Given the description of an element on the screen output the (x, y) to click on. 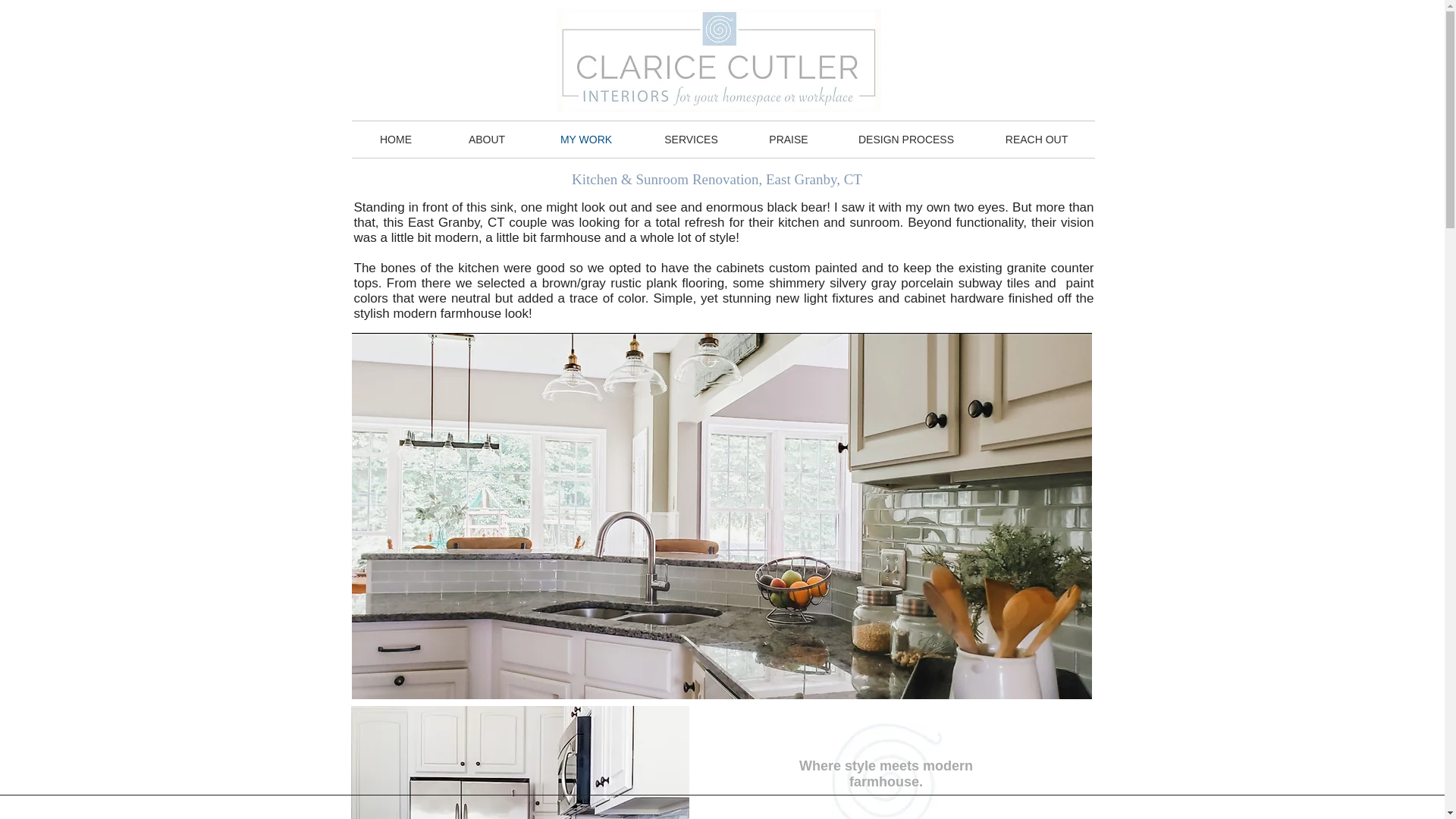
MY WORK (586, 139)
HOME (396, 139)
DESIGN PROCESS (906, 139)
PRAISE (787, 139)
SERVICES (690, 139)
ABOUT (485, 139)
REACH OUT (1036, 139)
